Given the description of an element on the screen output the (x, y) to click on. 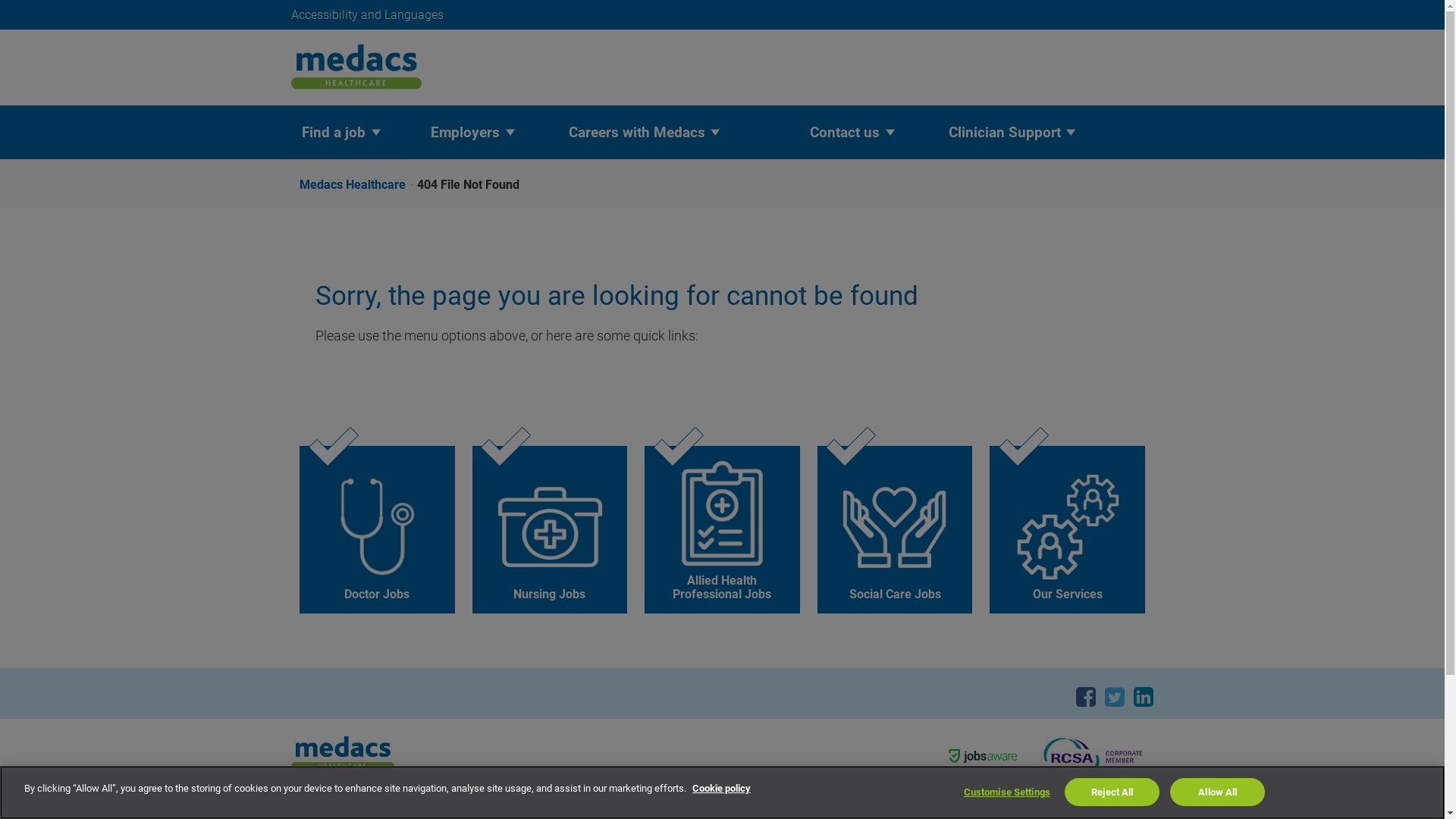
Our Services Element type: text (1067, 529)
LinkedIn Element type: text (1143, 695)
Nursing Jobs Element type: text (549, 529)
Employers Element type: text (464, 132)
Facebook Element type: text (1085, 695)
Clinician Support Element type: text (1003, 132)
Find a job Element type: text (332, 132)
Customise Settings Element type: text (1006, 792)
Allow All Element type: text (1217, 792)
Twitter Element type: text (1114, 695)
Cookie policy Element type: text (721, 787)
Allied Health Professional Jobs Element type: text (722, 529)
Careers with Medacs Element type: text (635, 132)
Contact us Element type: text (843, 132)
Social Care Jobs Element type: text (894, 529)
Reject All Element type: text (1111, 792)
Doctor Jobs Element type: text (377, 529)
Medacs Healthcare Element type: text (358, 184)
